Given the description of an element on the screen output the (x, y) to click on. 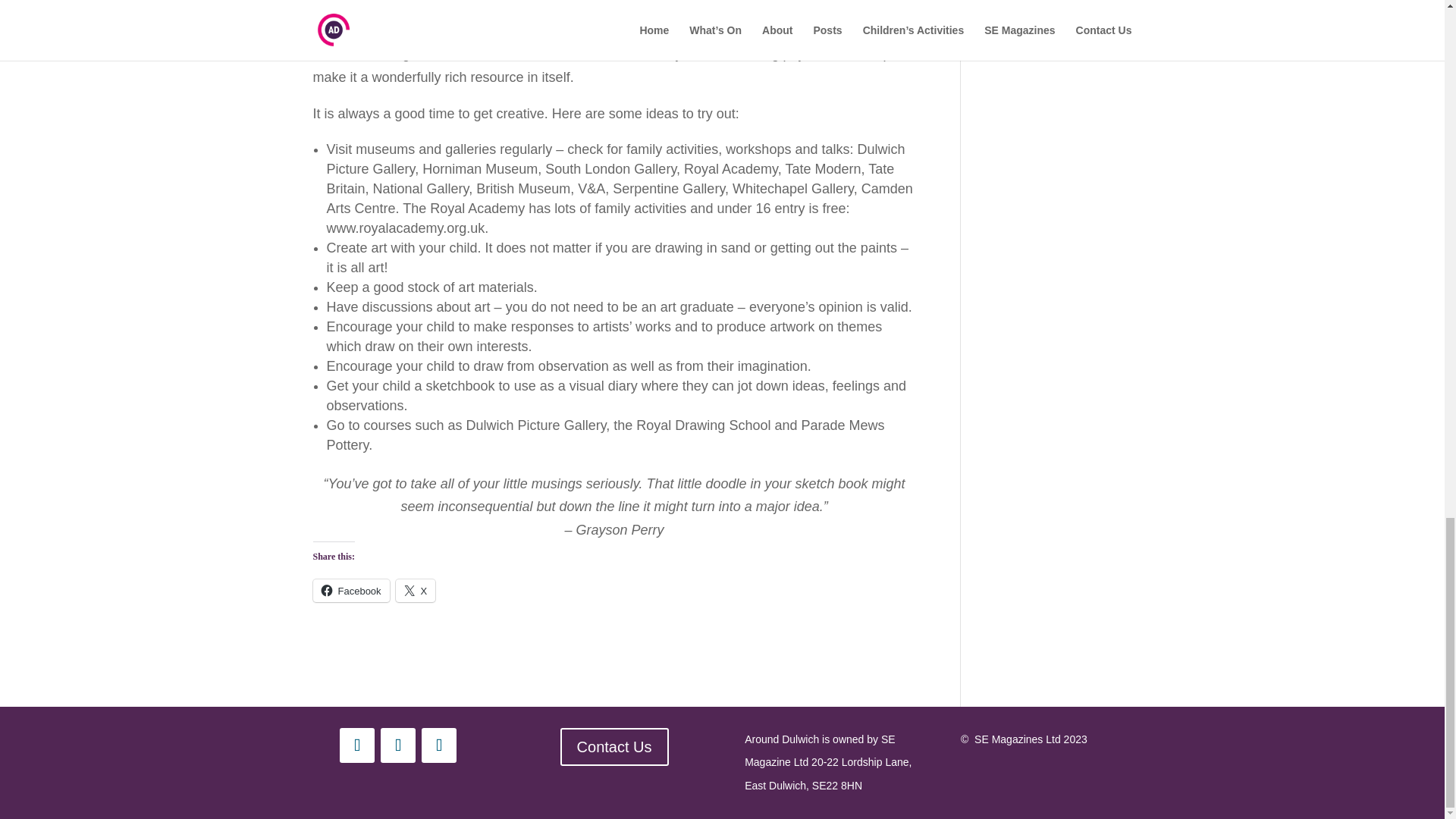
Contact Us (614, 746)
Follow on X (439, 745)
X (415, 590)
Facebook (350, 590)
Follow on Facebook (397, 745)
Click to share on X (415, 590)
Click to share on Facebook (350, 590)
Follow on Instagram (356, 745)
